Given the description of an element on the screen output the (x, y) to click on. 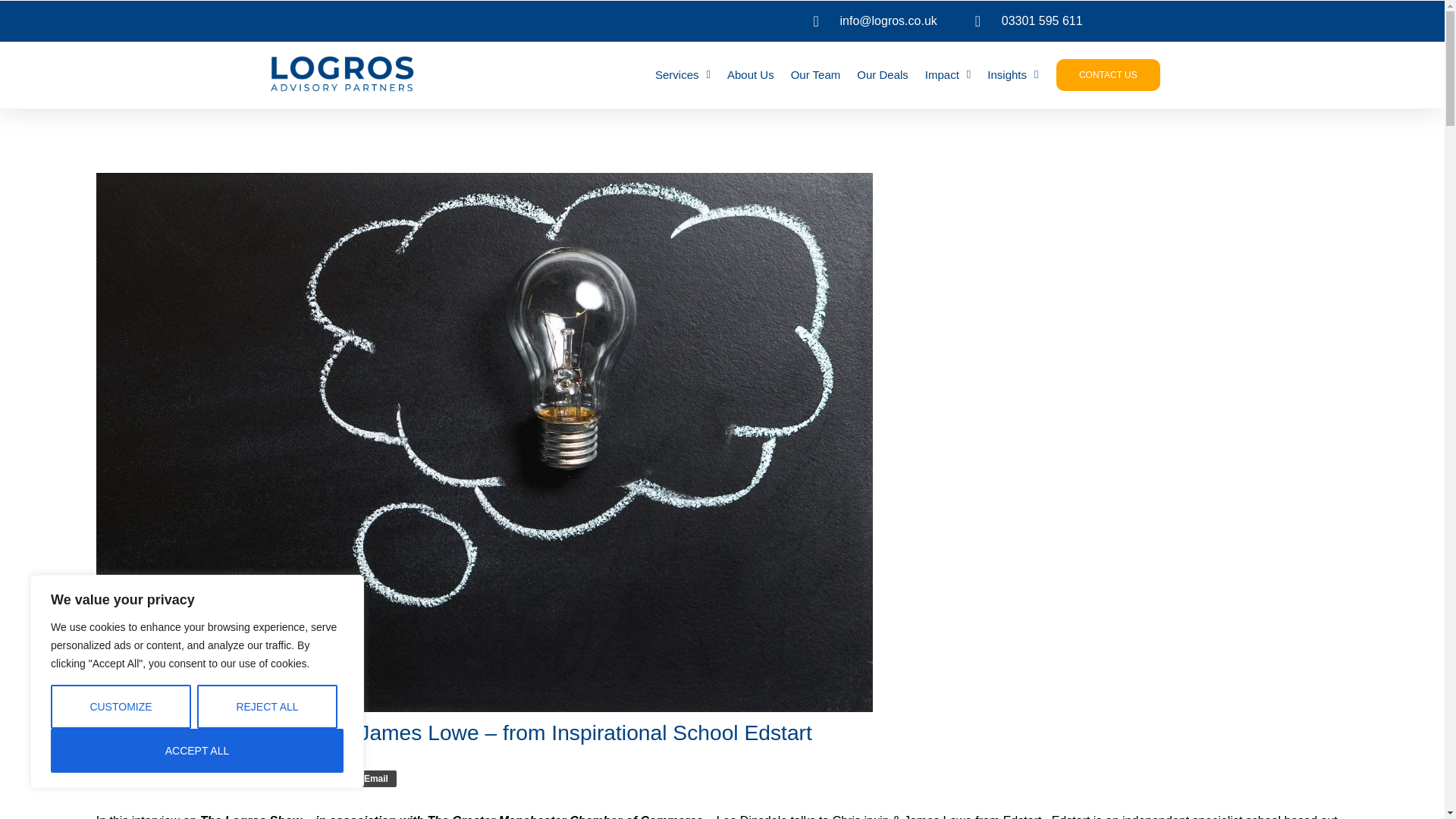
Email (371, 778)
REJECT ALL (266, 706)
Our Team (815, 74)
Share on Pinterest (248, 778)
Share on Facebook (130, 778)
Share via Email (371, 778)
Share on Twitter (196, 778)
Services (682, 74)
CUSTOMIZE (120, 706)
About Us (750, 74)
